Given the description of an element on the screen output the (x, y) to click on. 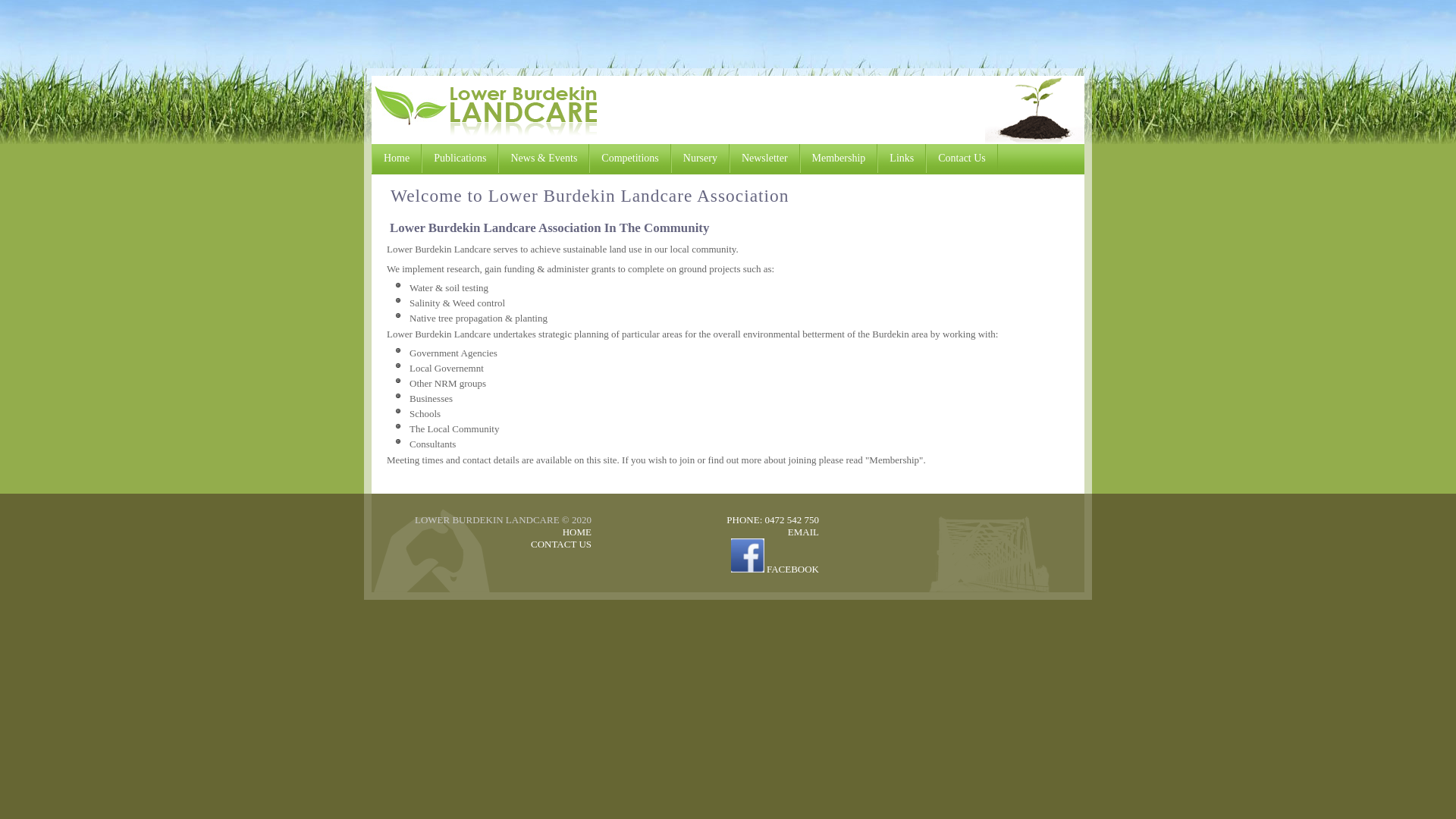
Membership Element type: text (839, 158)
Links Element type: text (901, 158)
CONTACT US Element type: text (560, 543)
EMAIL Element type: text (803, 531)
FACEBOOK Element type: text (775, 568)
Publications Element type: text (459, 158)
Contact Us Element type: text (961, 158)
News & Events Element type: text (543, 158)
HOME Element type: text (576, 531)
PHONE: 0472 542 750 Element type: text (772, 519)
Nursery Element type: text (700, 158)
Competitions Element type: text (629, 158)
Newsletter Element type: text (764, 158)
Home Element type: text (396, 158)
